Given the description of an element on the screen output the (x, y) to click on. 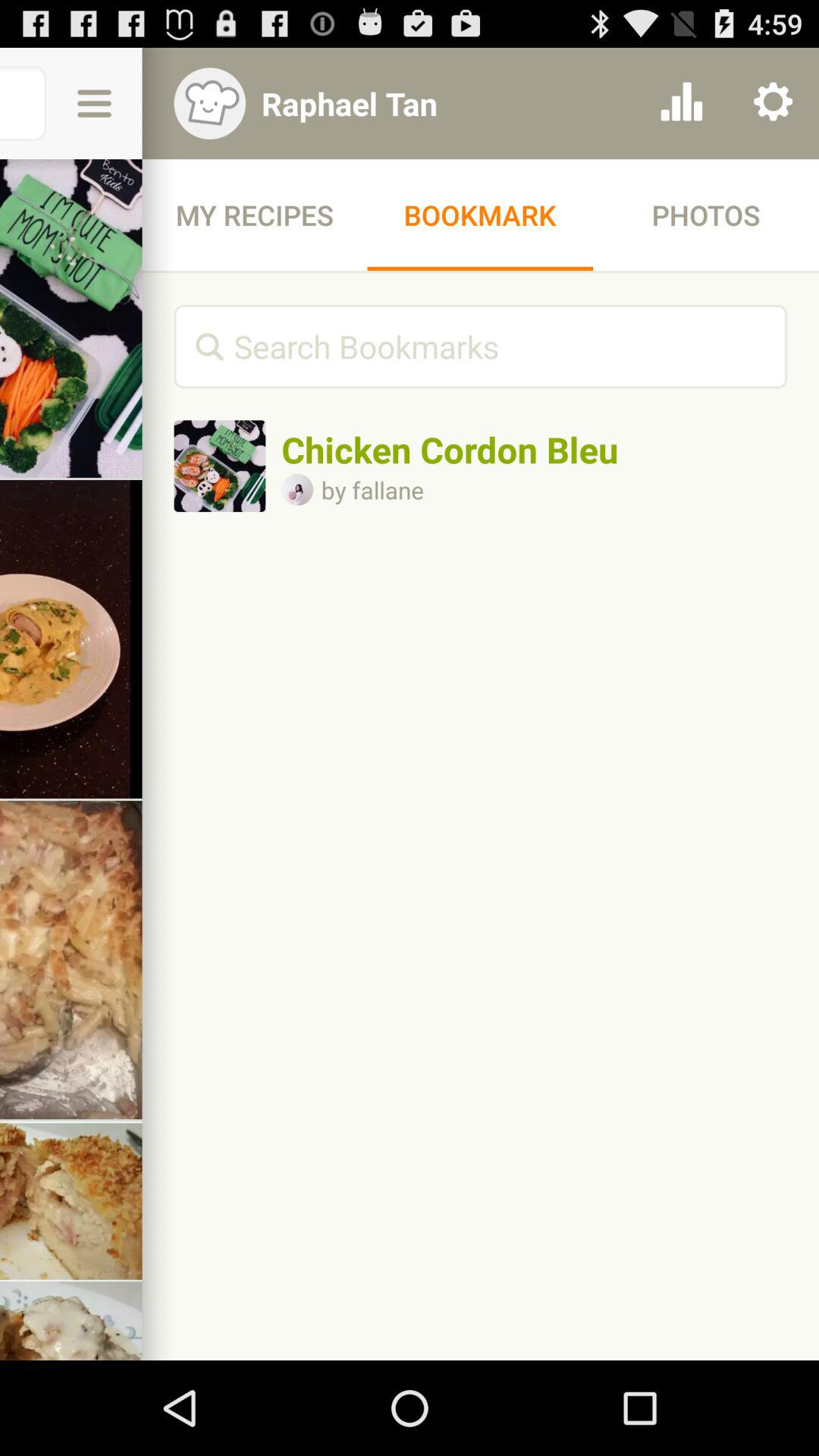
press item above my recipes (440, 103)
